Given the description of an element on the screen output the (x, y) to click on. 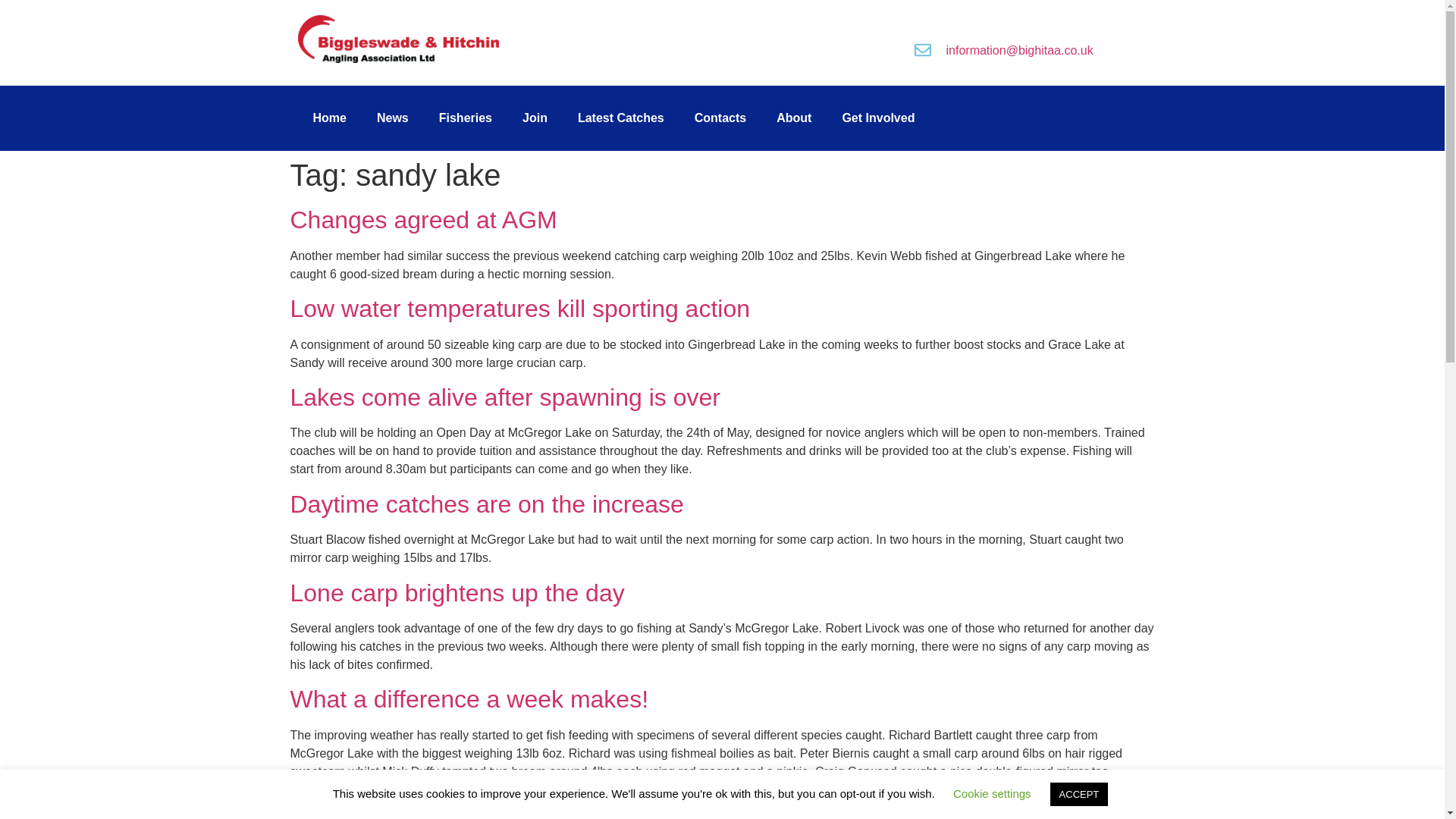
About (794, 117)
Join (534, 117)
Cookie settings (991, 793)
Latest Catches (620, 117)
ACCEPT (1078, 793)
What a difference a week makes! (468, 698)
Fisheries (464, 117)
Low water temperatures kill sporting action (519, 308)
Lakes come alive after spawning is over (504, 397)
Home (329, 117)
Get Involved (878, 117)
Daytime catches are on the increase (485, 503)
Contacts (720, 117)
Changes agreed at AGM (422, 219)
Lone carp brightens up the day (456, 592)
